Given the description of an element on the screen output the (x, y) to click on. 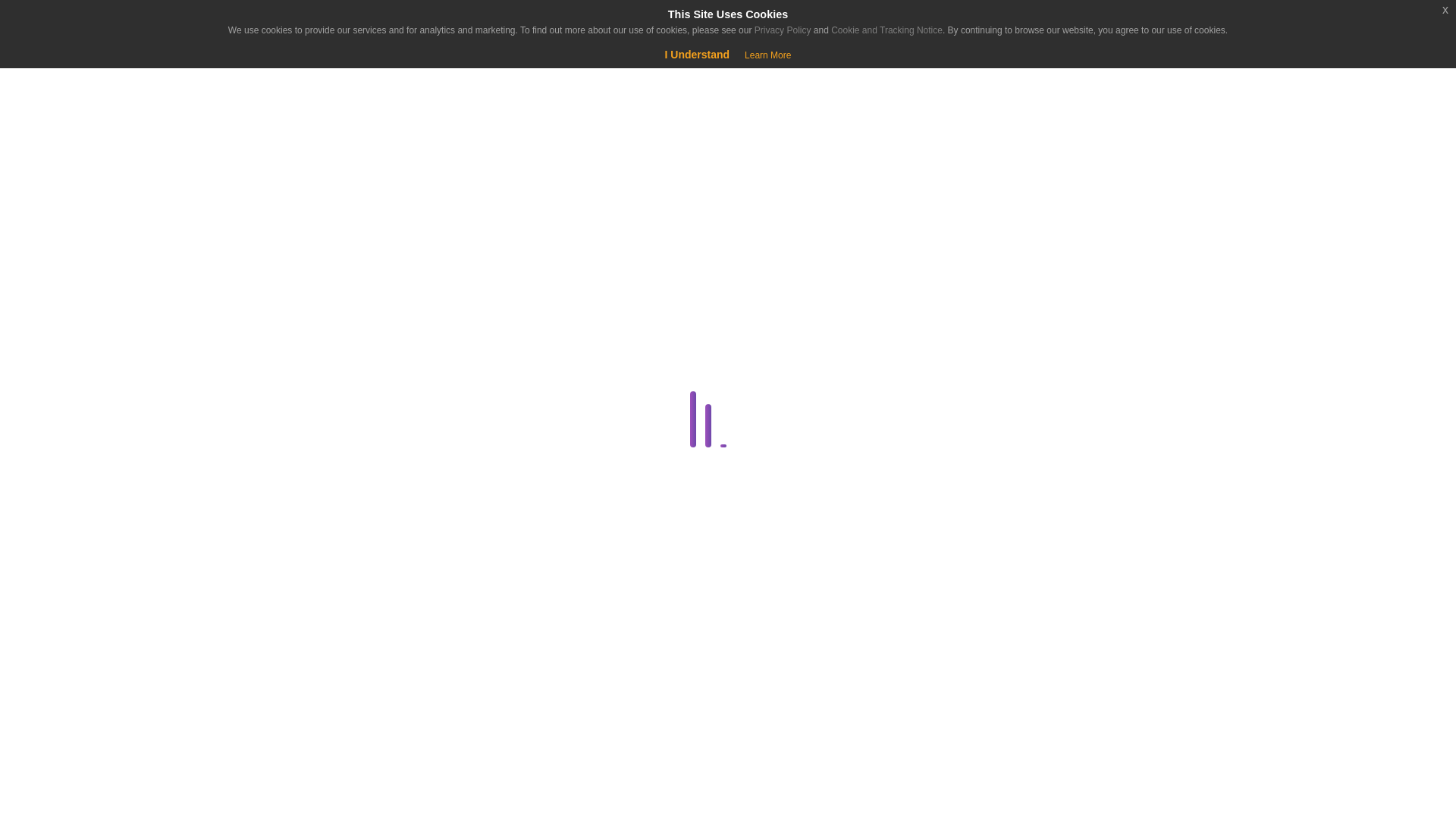
Billing (281, 349)
Store (94, 176)
FTP (283, 640)
Domains API (283, 567)
Email (281, 604)
General (281, 677)
Affiliates (283, 312)
Dedicated Server Guides (281, 495)
Colocation Guides (283, 385)
Databases (281, 458)
Domains and DNS (281, 531)
Home (94, 138)
cPanel (281, 422)
Software (281, 786)
Hosting Dashboard (281, 713)
